Given the description of an element on the screen output the (x, y) to click on. 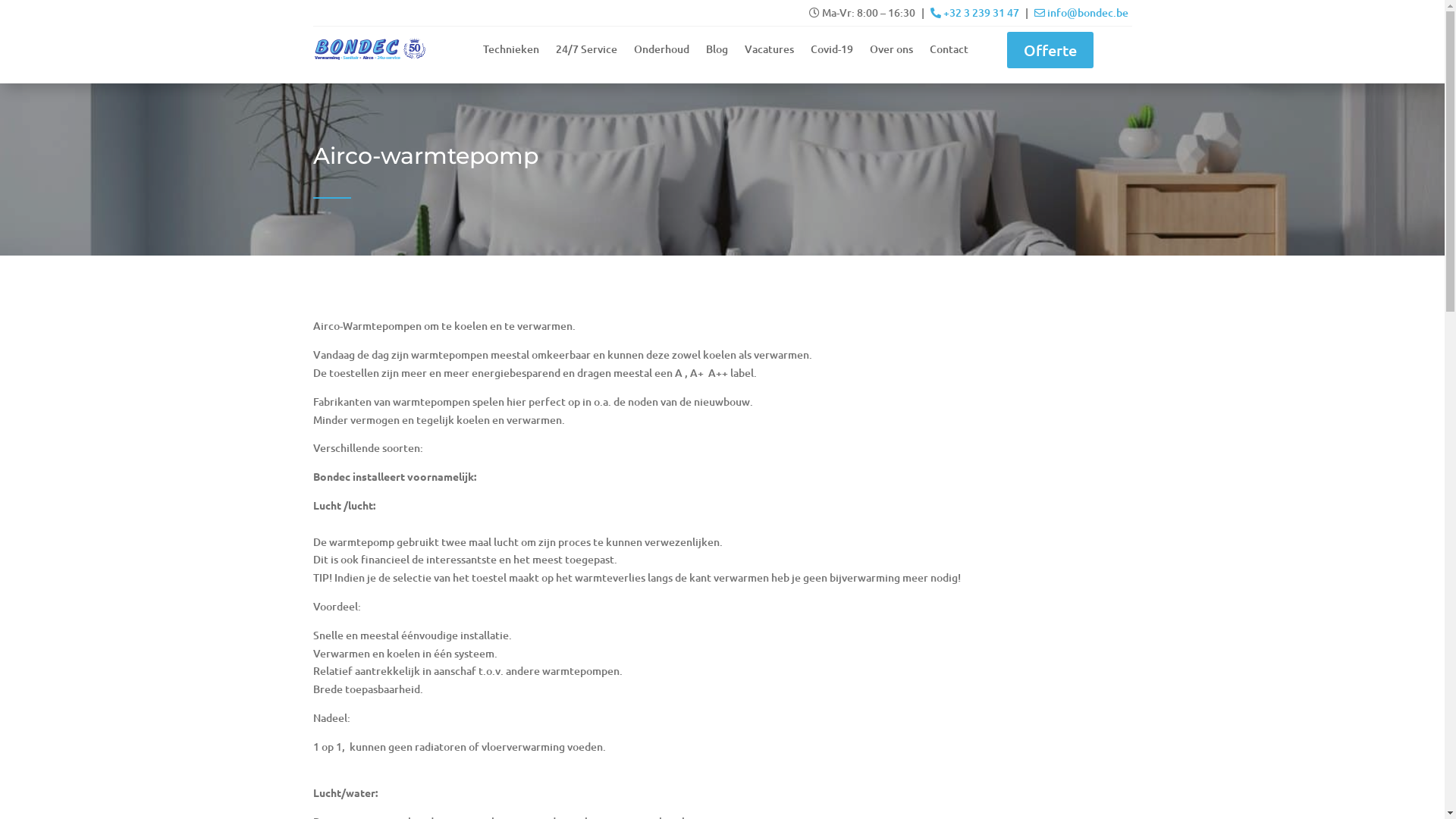
Vacatures Element type: text (768, 51)
info@bondec.be Element type: text (1080, 12)
Covid-19 Element type: text (830, 51)
Bondec-logo-50-jaar-site Element type: hover (368, 48)
Contact Element type: text (948, 51)
Blog Element type: text (716, 51)
Over ons Element type: text (890, 51)
Technieken Element type: text (510, 51)
24/7 Service Element type: text (585, 51)
+32 3 239 31 47 Element type: text (974, 12)
Offerte Element type: text (1050, 49)
Onderhoud Element type: text (661, 51)
